Given the description of an element on the screen output the (x, y) to click on. 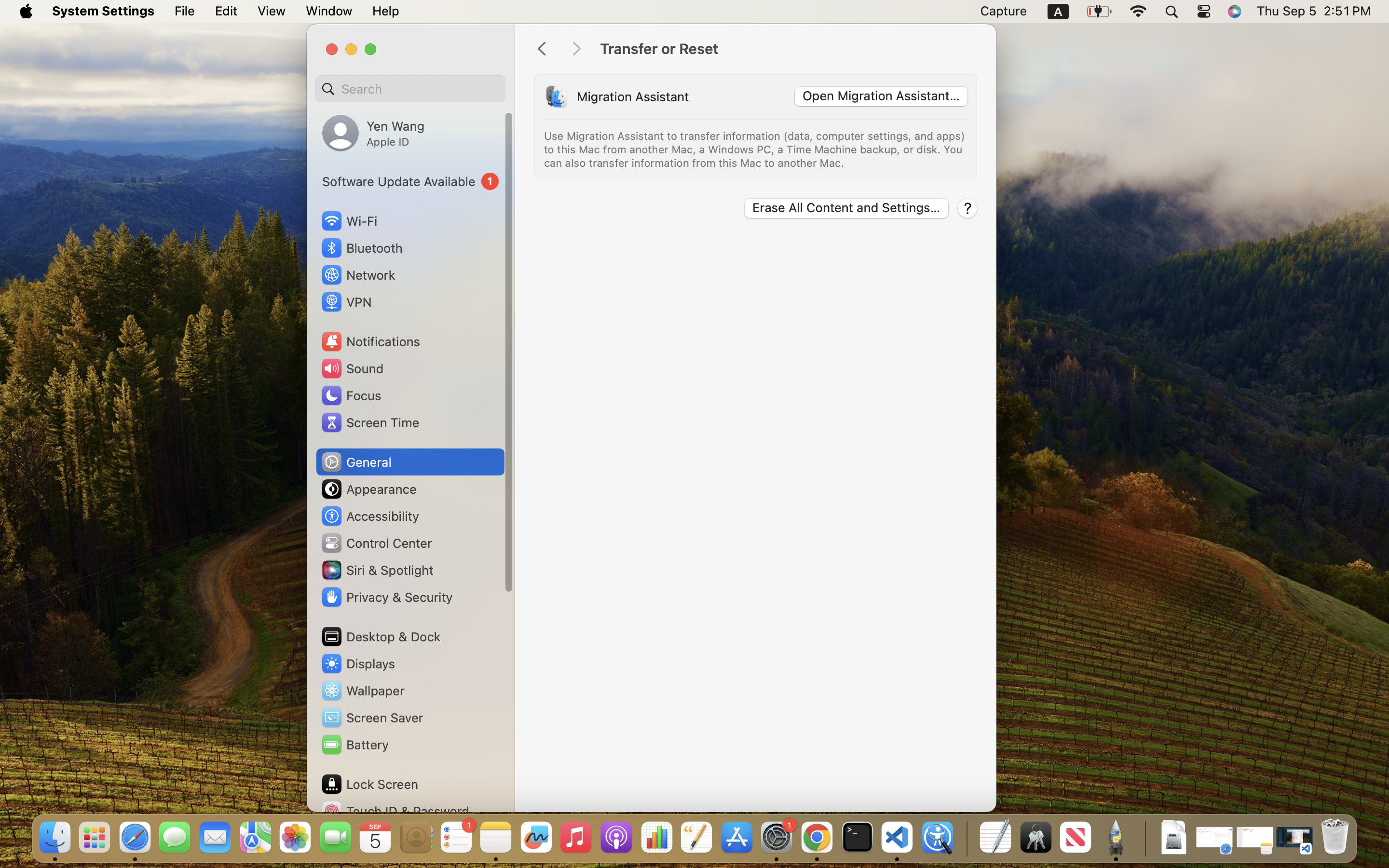
Touch ID & Password Element type: AXStaticText (394, 810)
0.4285714328289032 Element type: AXDockItem (965, 837)
Wi‑Fi Element type: AXStaticText (348, 220)
Screen Time Element type: AXStaticText (369, 422)
Battery Element type: AXStaticText (354, 744)
